Given the description of an element on the screen output the (x, y) to click on. 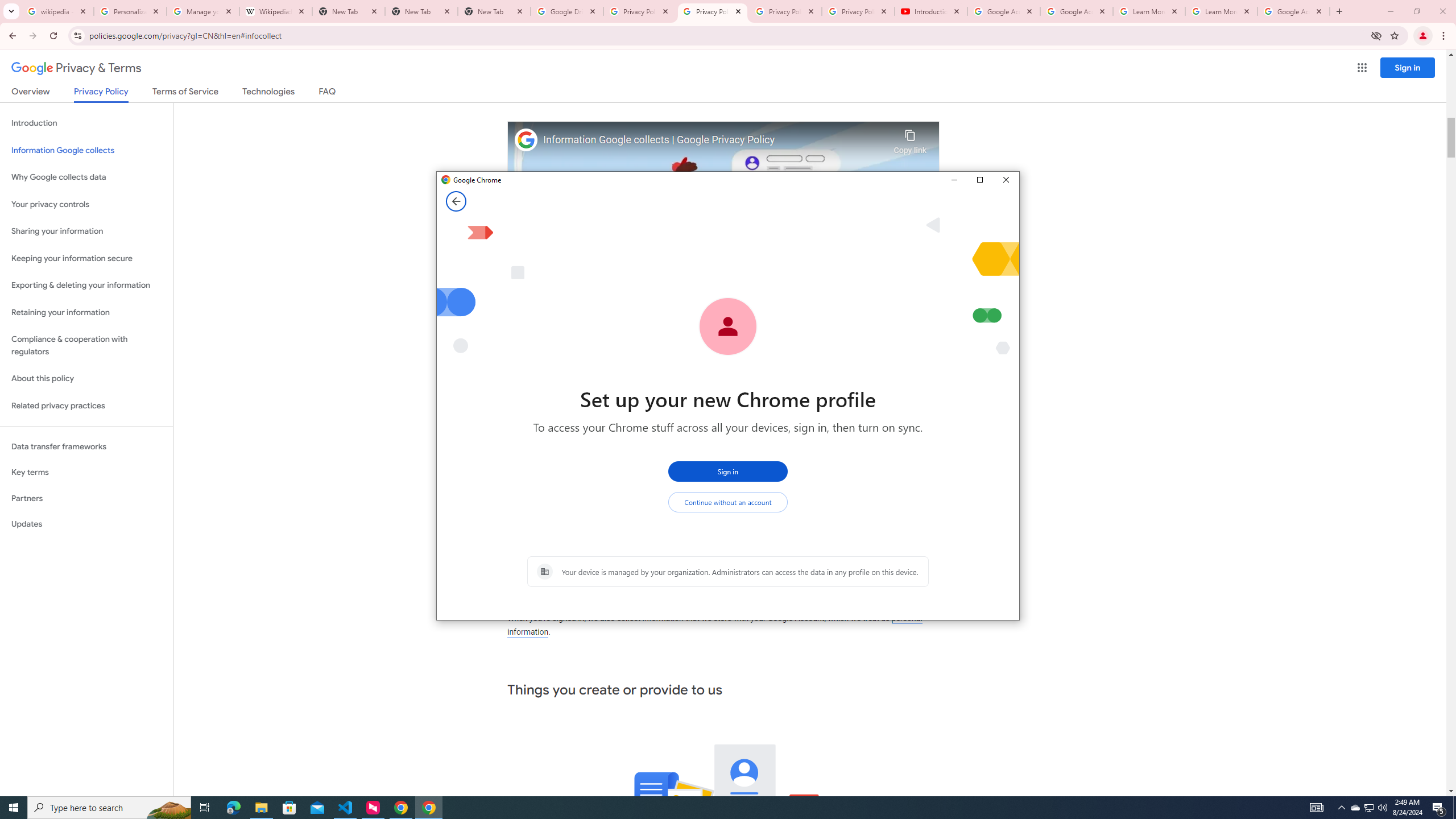
File Explorer - 1 running window (1368, 807)
Personalization & Google Search results - Google Search Help (261, 807)
Notification Chevron (129, 11)
New Tab (1341, 807)
